Given the description of an element on the screen output the (x, y) to click on. 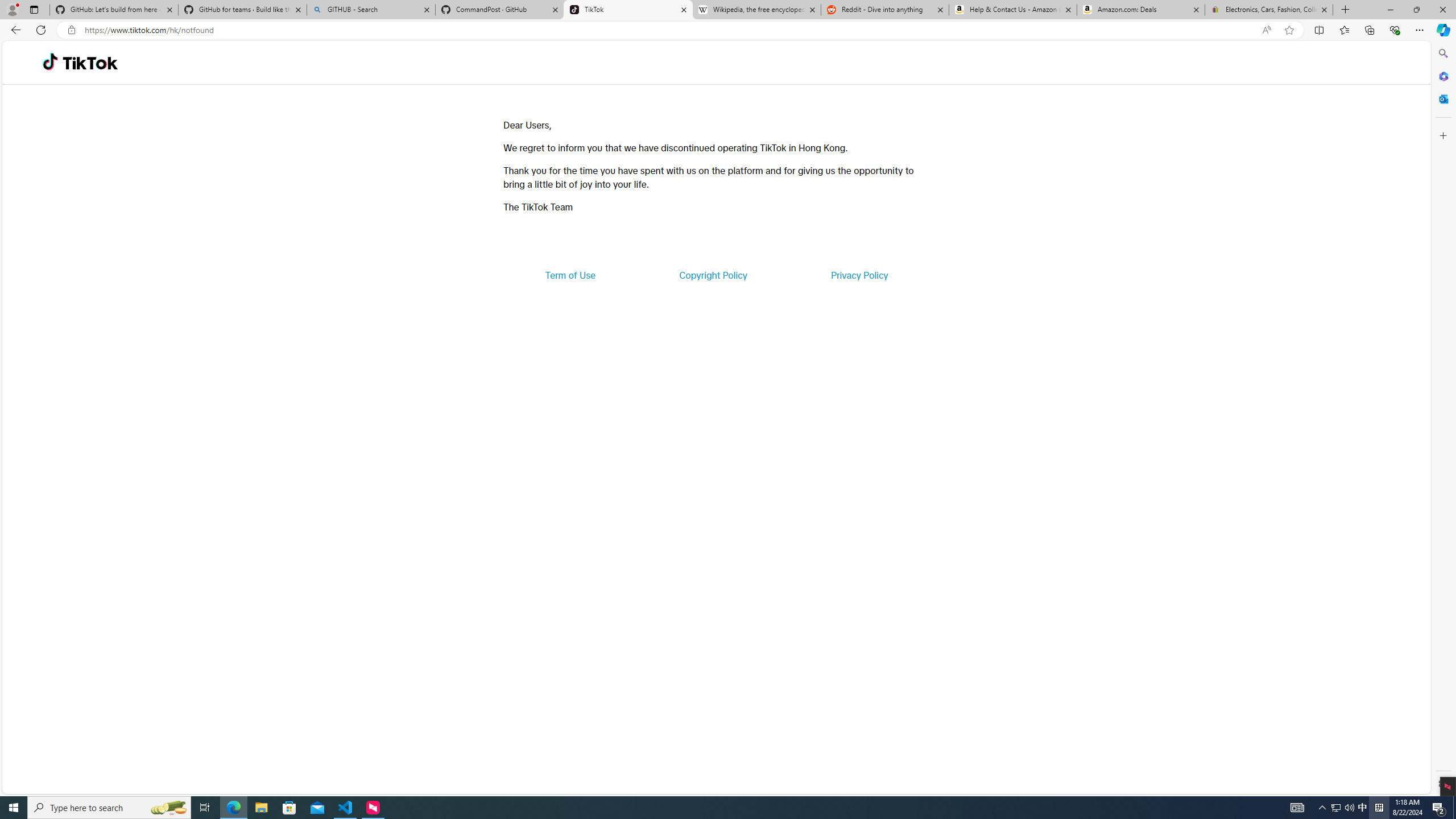
Term of Use (569, 274)
